Given the description of an element on the screen output the (x, y) to click on. 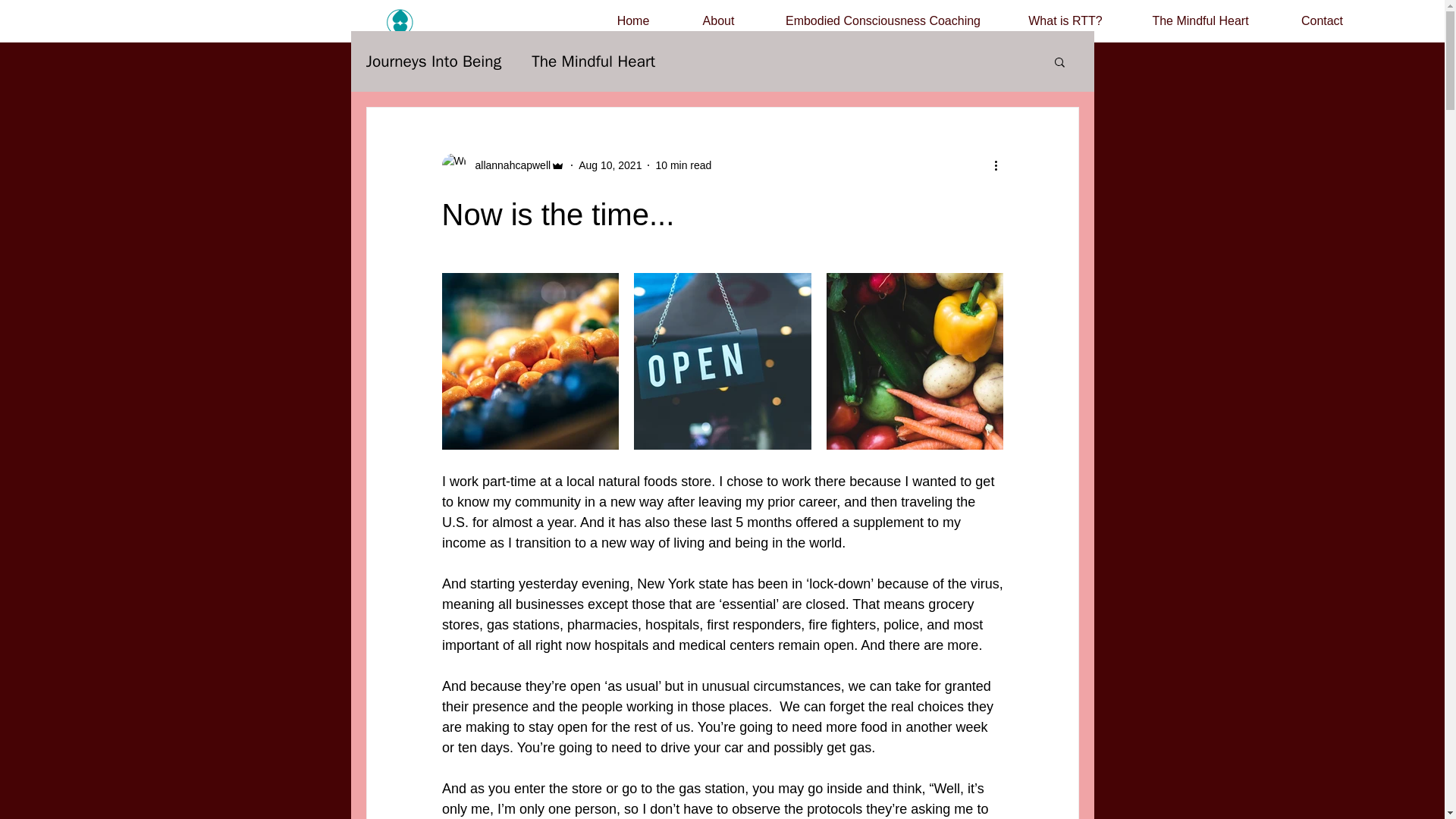
Contact (1322, 21)
The Mindful Heart (1200, 21)
Journeys Into Being (432, 61)
allannahcapwell (507, 165)
The Mindful Heart (593, 61)
10 min read (683, 164)
Home (633, 21)
Aug 10, 2021 (610, 164)
Embodied Consciousness Coaching (882, 21)
allannahcapwell (502, 165)
About (718, 21)
What is RTT? (1064, 21)
